Given the description of an element on the screen output the (x, y) to click on. 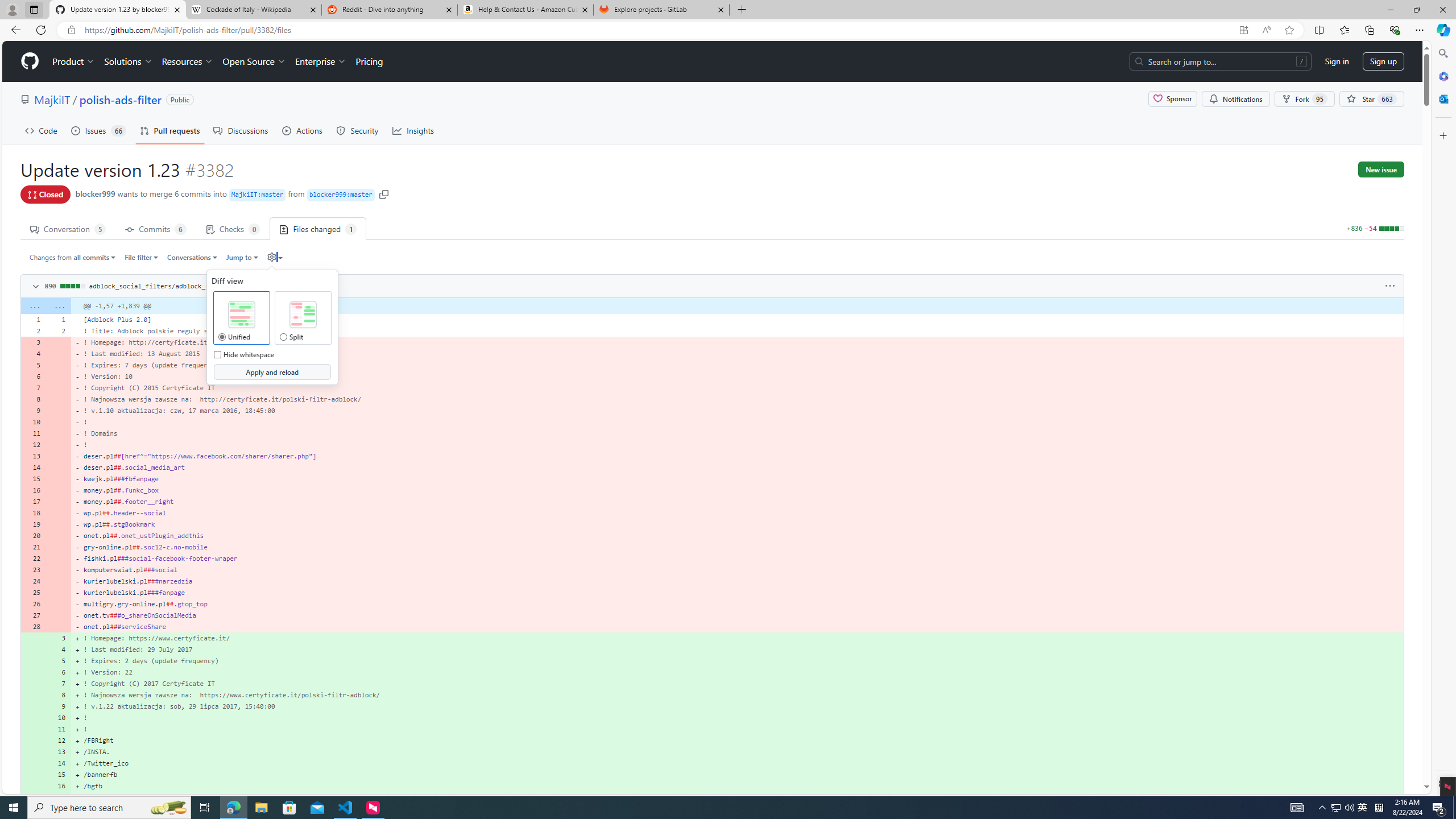
polish-ads-filter (119, 99)
24 (33, 581)
Product (74, 60)
- kurierlubelski.pl###fanpage (737, 592)
+ ! v.1.22 aktualizacja: sob, 29 lipca 2017, 15:40:00  (737, 706)
23 (33, 569)
- ! Domains (737, 432)
- money.pl##.footer__right (737, 501)
Product (74, 60)
Solutions (128, 60)
Original file line number (35, 316)
Issues66 (98, 130)
7 (58, 683)
